Given the description of an element on the screen output the (x, y) to click on. 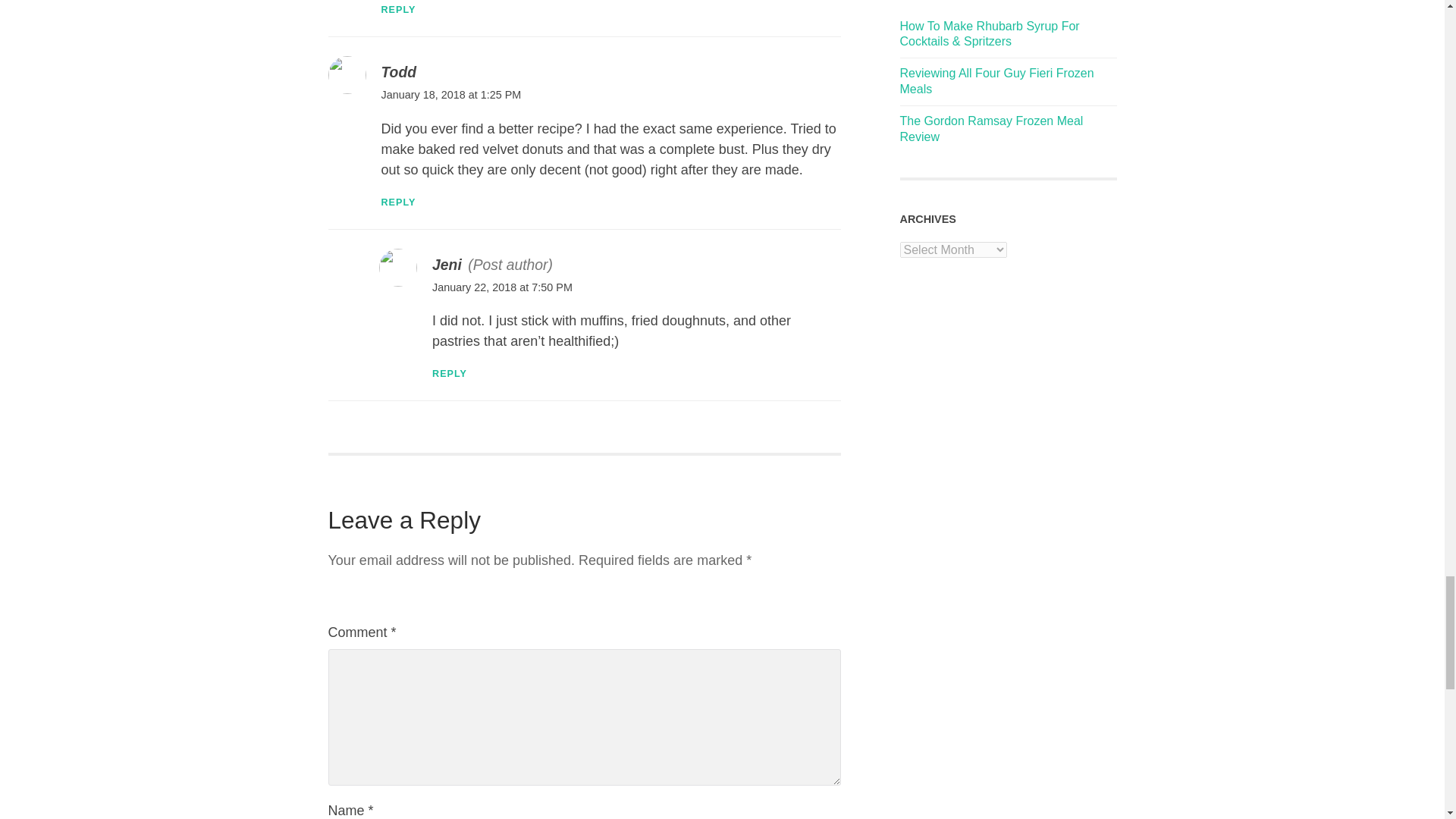
January 18, 2018 at 1:25 PM (450, 94)
January 22, 2018 at 7:50 PM (502, 287)
